Given the description of an element on the screen output the (x, y) to click on. 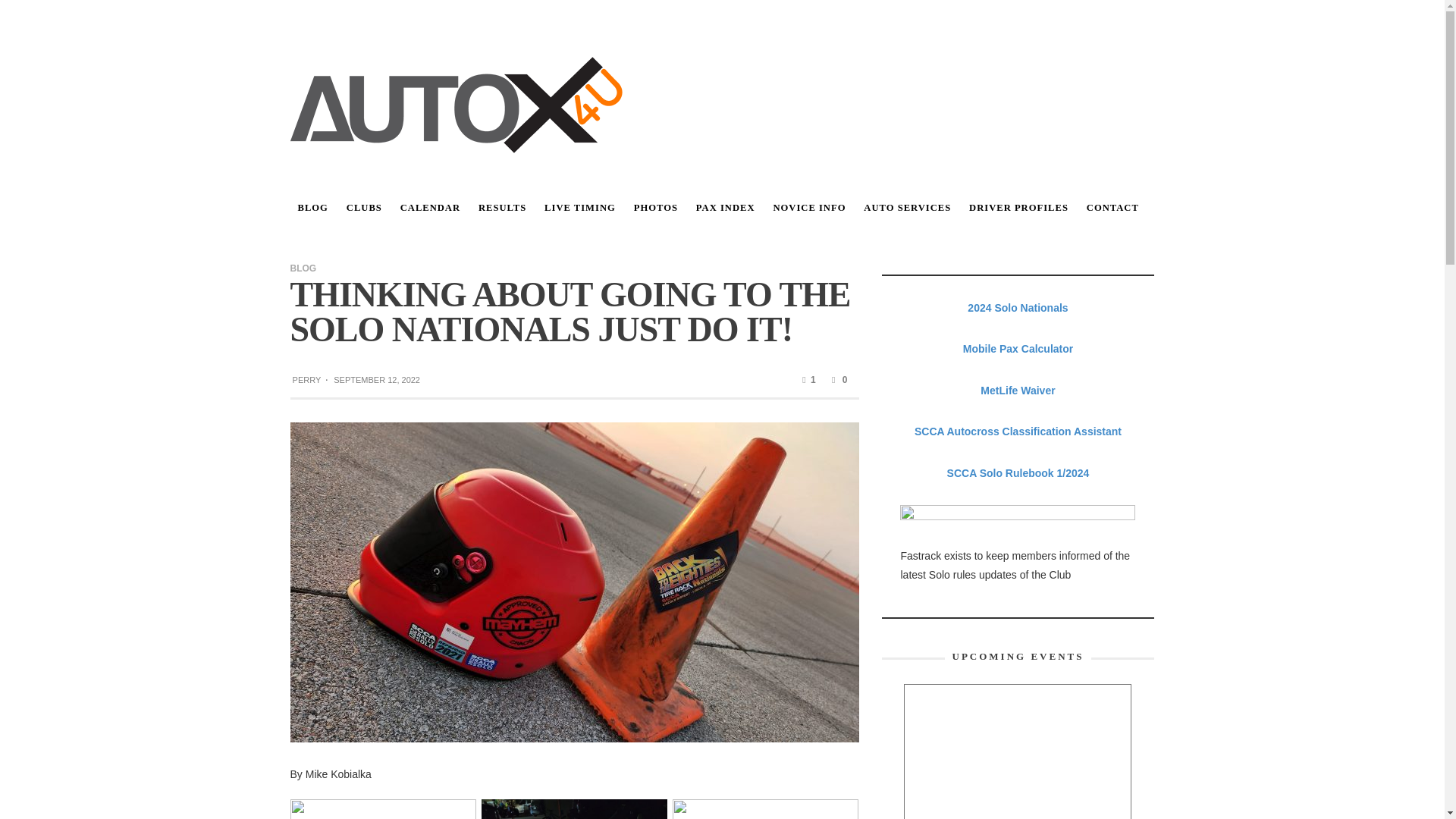
DRIVER PROFILES (1017, 208)
RESULTS (502, 208)
0 (837, 379)
Likes (806, 379)
BLOG (311, 208)
MetLife Waiver (1016, 389)
Mobile Pax Calculator (1017, 348)
PERRY (306, 379)
View all posts in Blog (302, 267)
AUTO SERVICES (907, 208)
1 (806, 379)
PAX INDEX (725, 208)
CLUBS (364, 208)
2024 Solo Nationals (1017, 307)
